Given the description of an element on the screen output the (x, y) to click on. 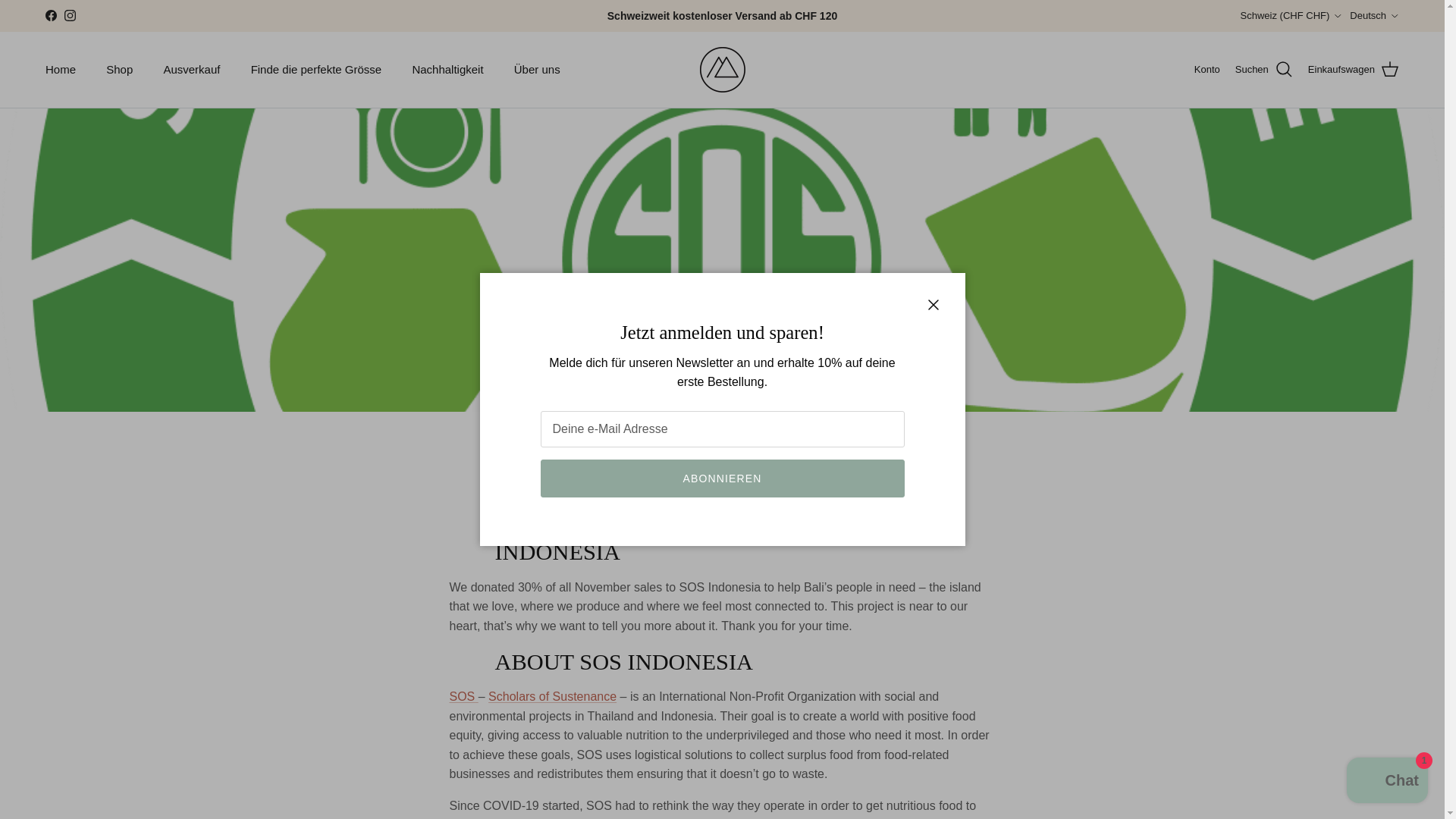
Main Design auf Instagram (69, 15)
Shop (120, 70)
Deutsch (1374, 15)
Main Design (721, 69)
Home (60, 70)
Instagram (69, 15)
Konto (1206, 69)
Nachhaltigkeit (446, 70)
Onlineshop-Chat von Shopify (1387, 781)
Einkaufswagen (1353, 69)
Main Design auf Facebook (50, 15)
Ausverkauf (190, 70)
Facebook (50, 15)
Suchen (1263, 69)
